Given the description of an element on the screen output the (x, y) to click on. 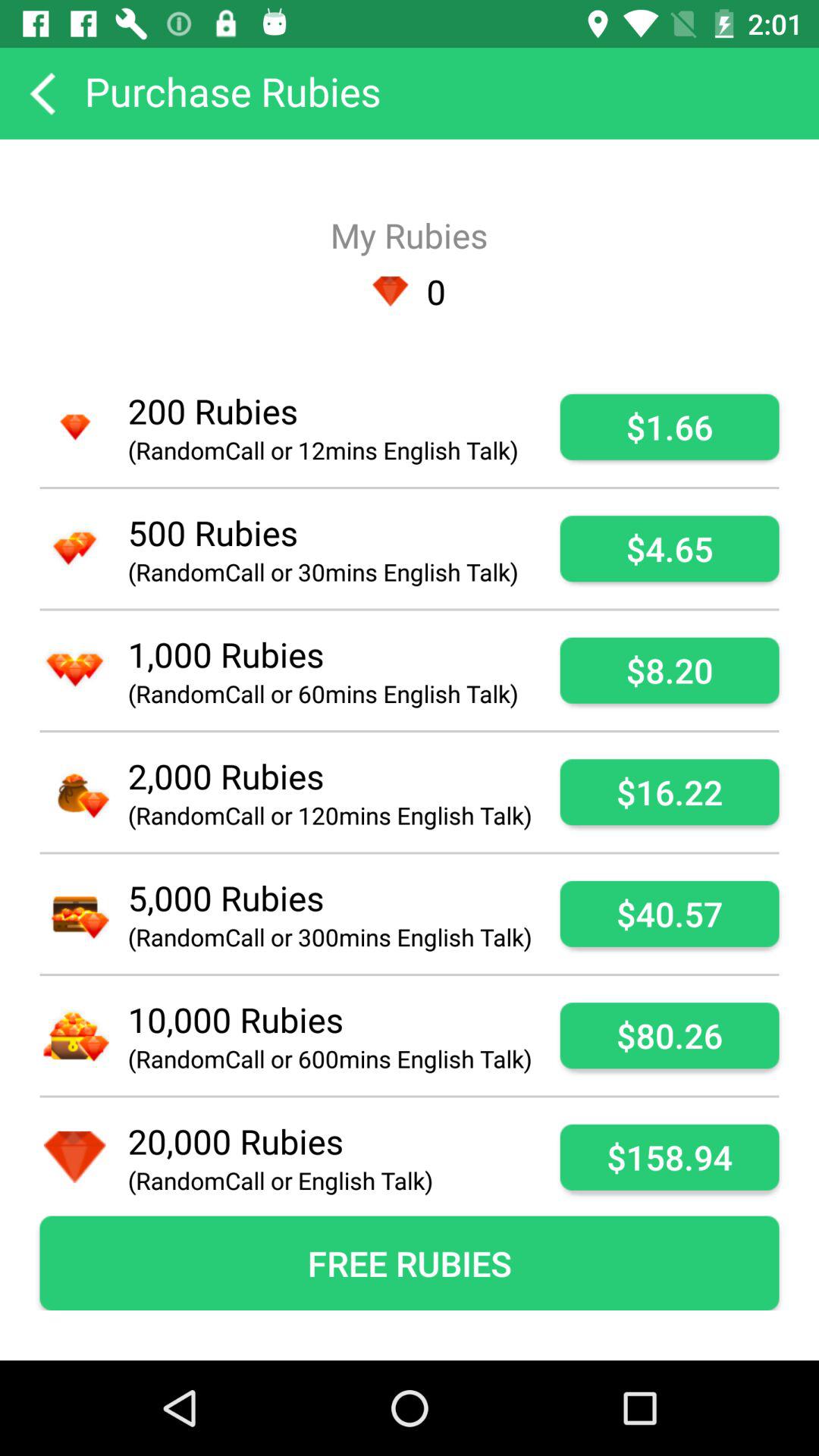
select $80.26 item (669, 1035)
